Given the description of an element on the screen output the (x, y) to click on. 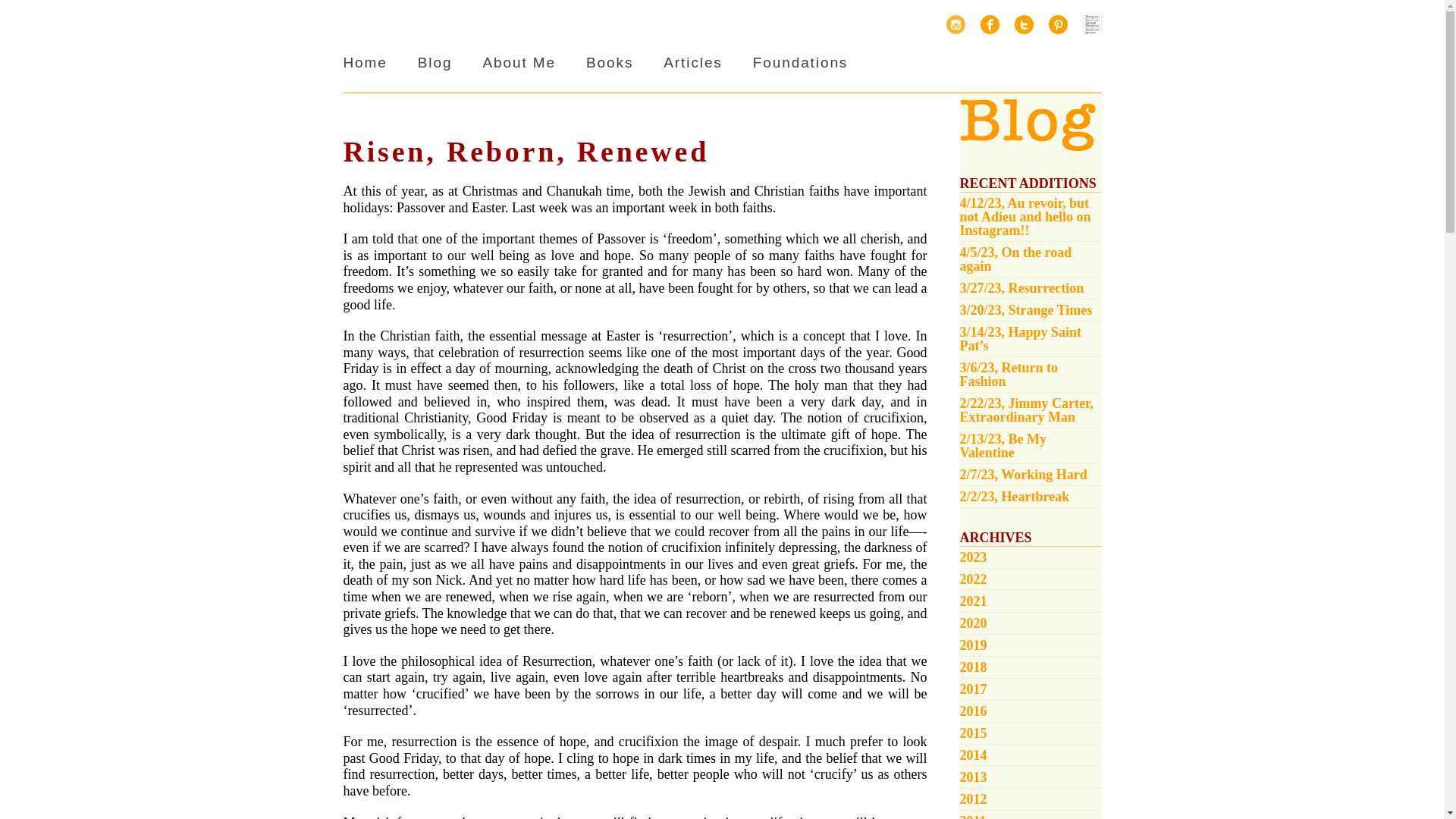
Twitter (1023, 24)
2022 (1030, 579)
Home (364, 62)
2020 (1030, 623)
Random House (1092, 24)
Facebook (988, 24)
2017 (1030, 689)
2014 (1030, 755)
Instagram (955, 24)
Blog (434, 62)
Articles (692, 62)
2023 (1030, 557)
Pinterest (1057, 24)
2019 (1030, 645)
2018 (1030, 667)
